Given the description of an element on the screen output the (x, y) to click on. 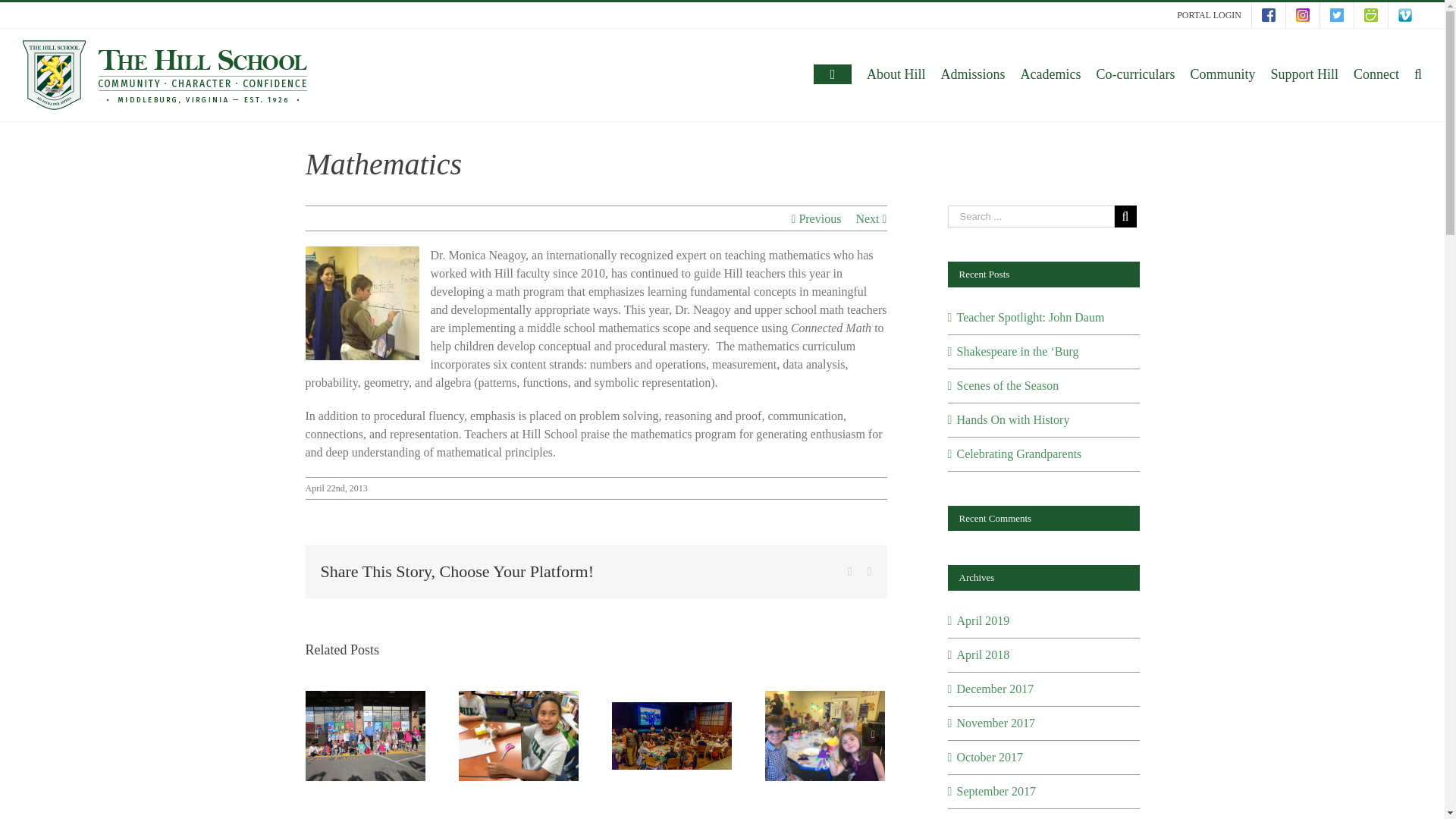
PORTAL LOGIN (1208, 14)
Facebook (1268, 14)
SmugMug (1370, 14)
Instagram (1302, 14)
